Given the description of an element on the screen output the (x, y) to click on. 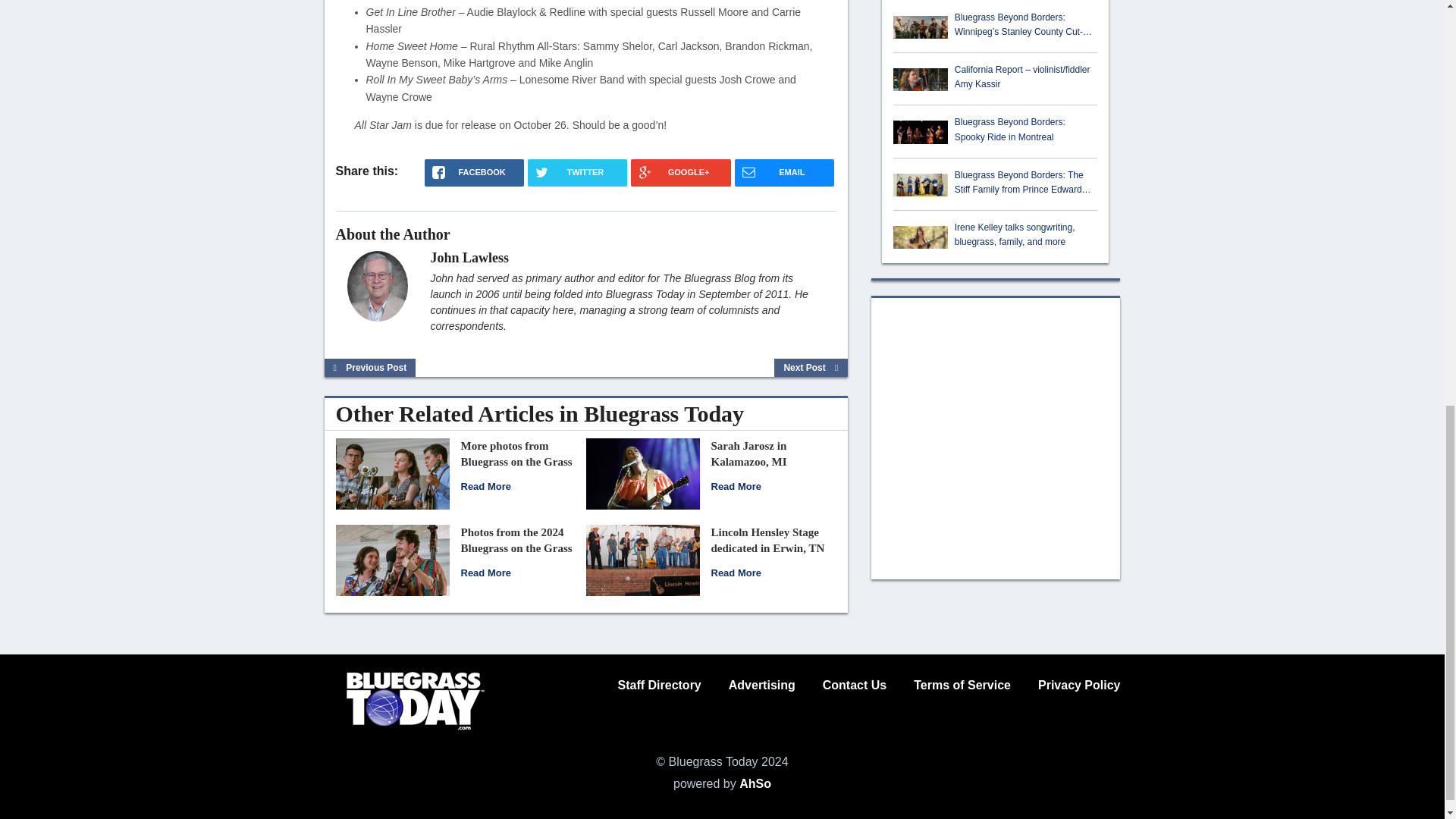
Previous Post (370, 367)
TWITTER (577, 172)
Lincoln Hensley Stage dedicated in Erwin, TN (736, 572)
Photos from the 2024 Bluegrass on the Grass (486, 572)
Sarah Jarosz in Kalamazoo, MI (641, 472)
Sarah Jarosz in Kalamazoo, MI (749, 453)
Photos from the 2024 Bluegrass on the Grass (391, 558)
Photos from the 2024 Bluegrass on the Grass (516, 540)
Lincoln Hensley Stage dedicated in Erwin, TN (641, 558)
More photos from Bluegrass on the Grass (486, 486)
More photos from Bluegrass on the Grass (391, 472)
More photos from Bluegrass on the Grass (516, 453)
FACEBOOK (474, 172)
Sarah Jarosz in Kalamazoo, MI (736, 486)
Lincoln Hensley Stage dedicated in Erwin, TN (768, 540)
